Given the description of an element on the screen output the (x, y) to click on. 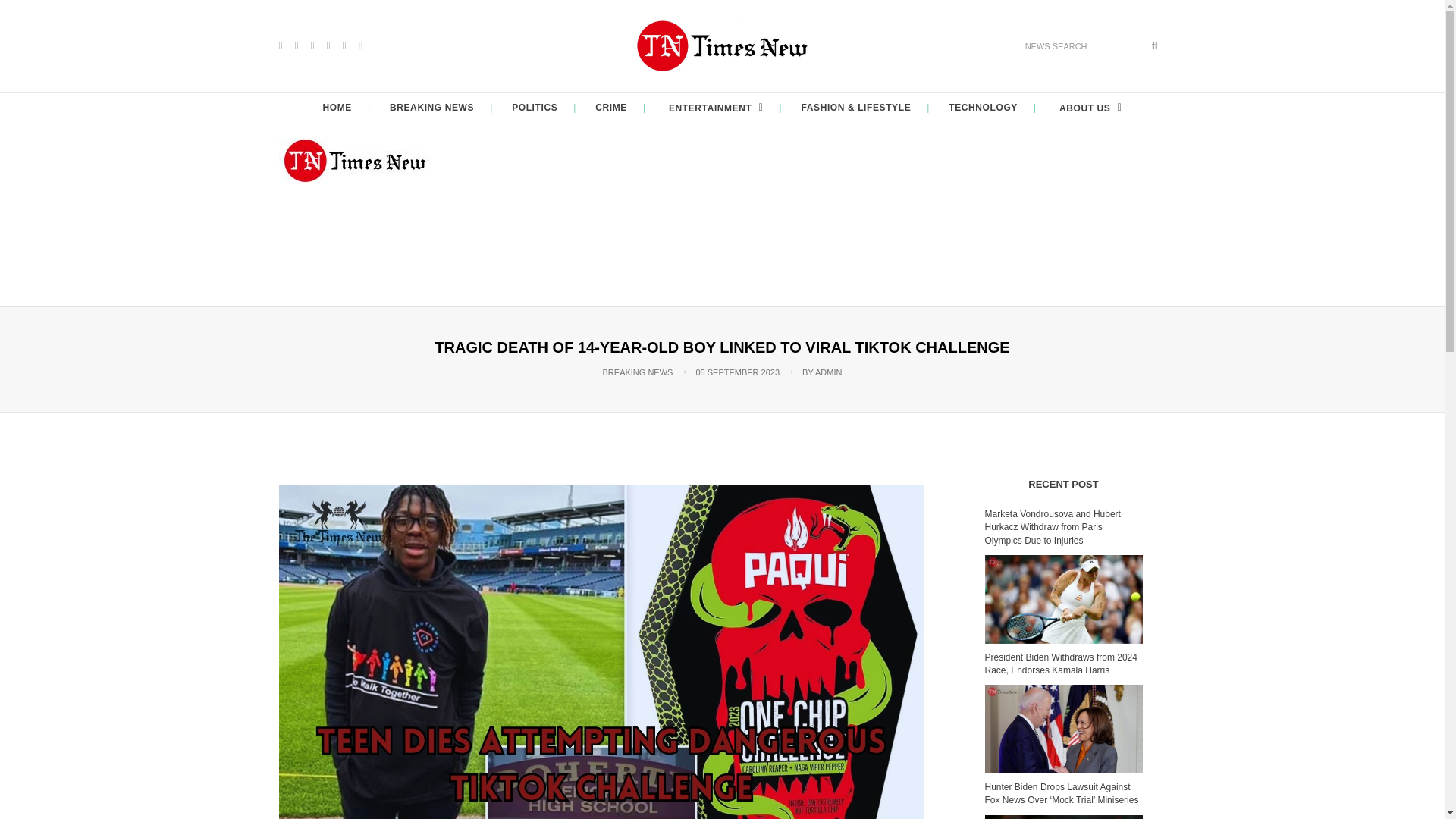
ENTERTAINMENT (714, 107)
ABOUT US (1088, 107)
TECHNOLOGY (983, 107)
BREAKING NEWS (637, 371)
HOME (337, 107)
ADMIN (828, 371)
POLITICS (534, 107)
BREAKING NEWS (432, 107)
CRIME (611, 107)
